Given the description of an element on the screen output the (x, y) to click on. 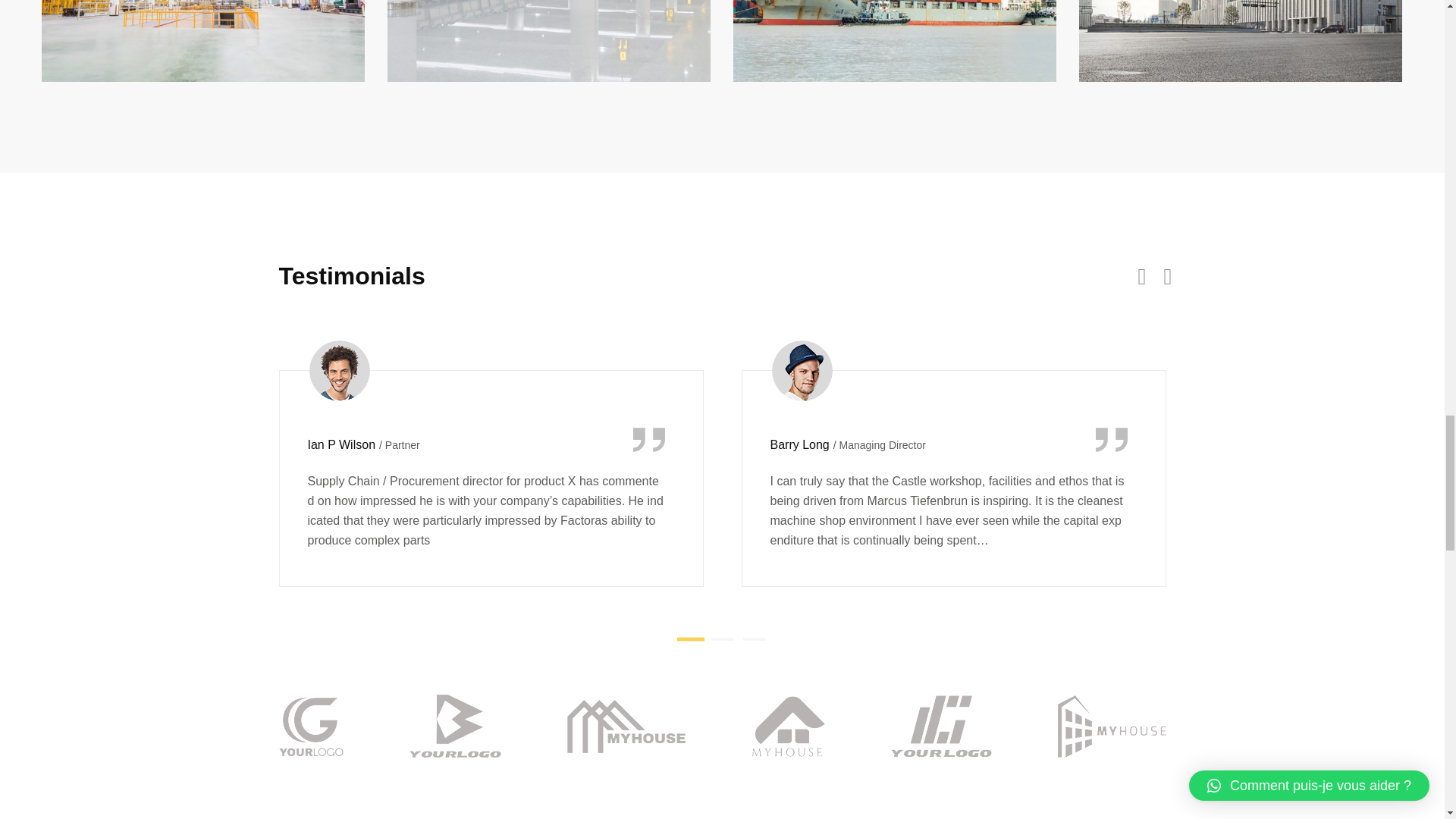
partner-11 (1111, 726)
partner-10 (940, 726)
partner-8 (626, 726)
partner-6 (311, 726)
partner-9 (787, 726)
partner-7 (454, 726)
